Given the description of an element on the screen output the (x, y) to click on. 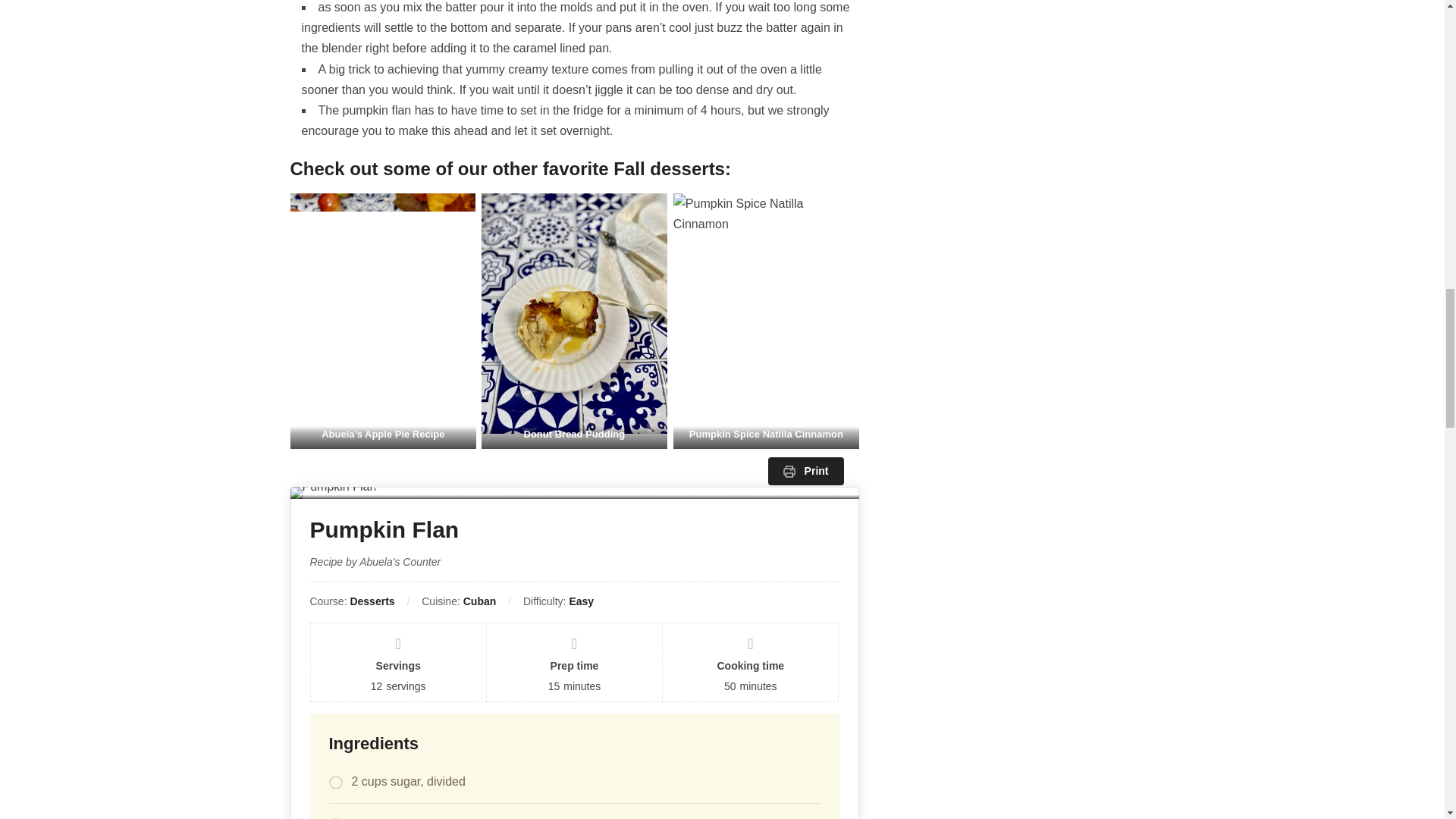
Print directions... (806, 471)
